Given the description of an element on the screen output the (x, y) to click on. 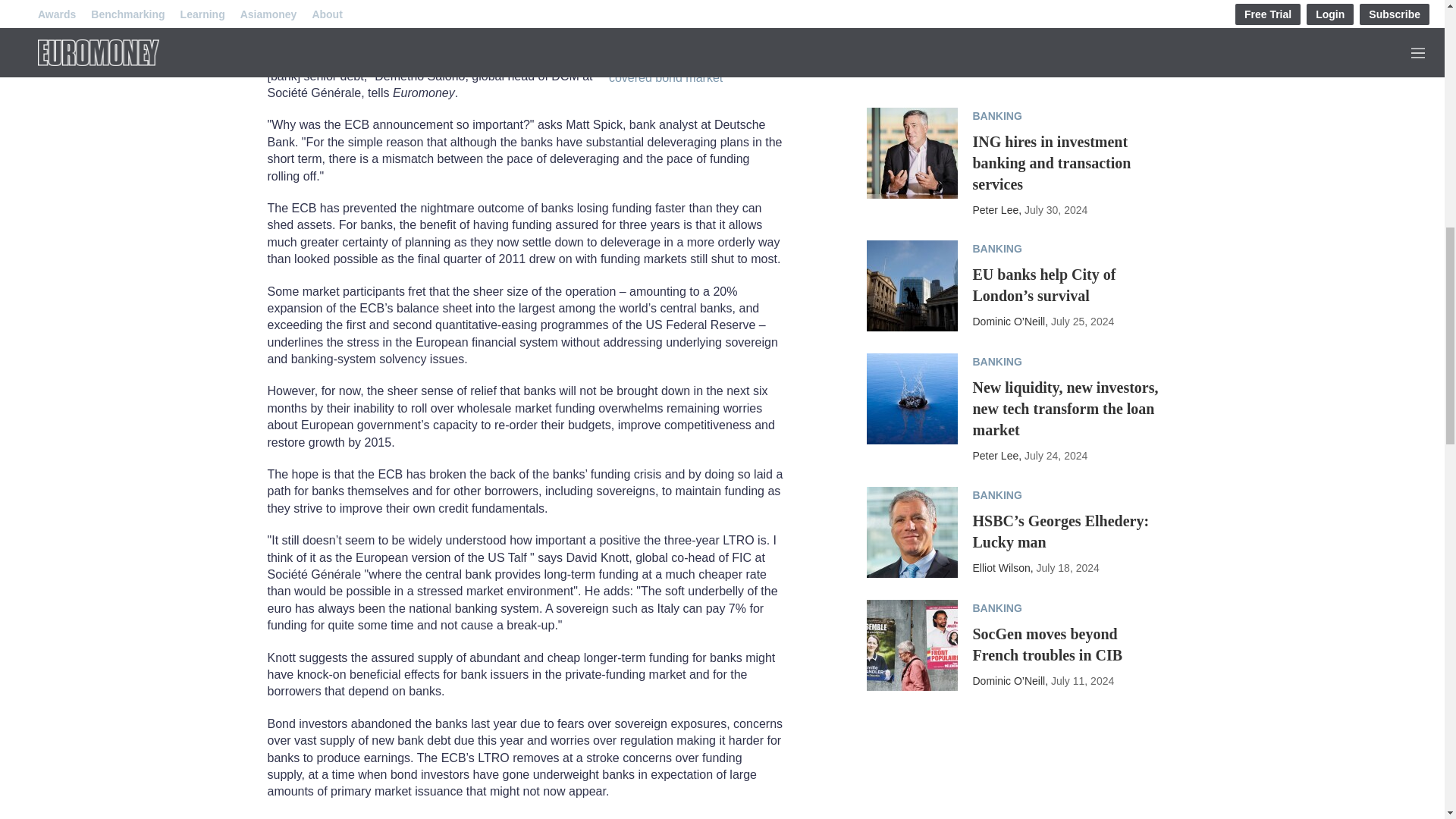
3rd party ad content (979, 776)
3rd party ad content (979, 18)
